Given the description of an element on the screen output the (x, y) to click on. 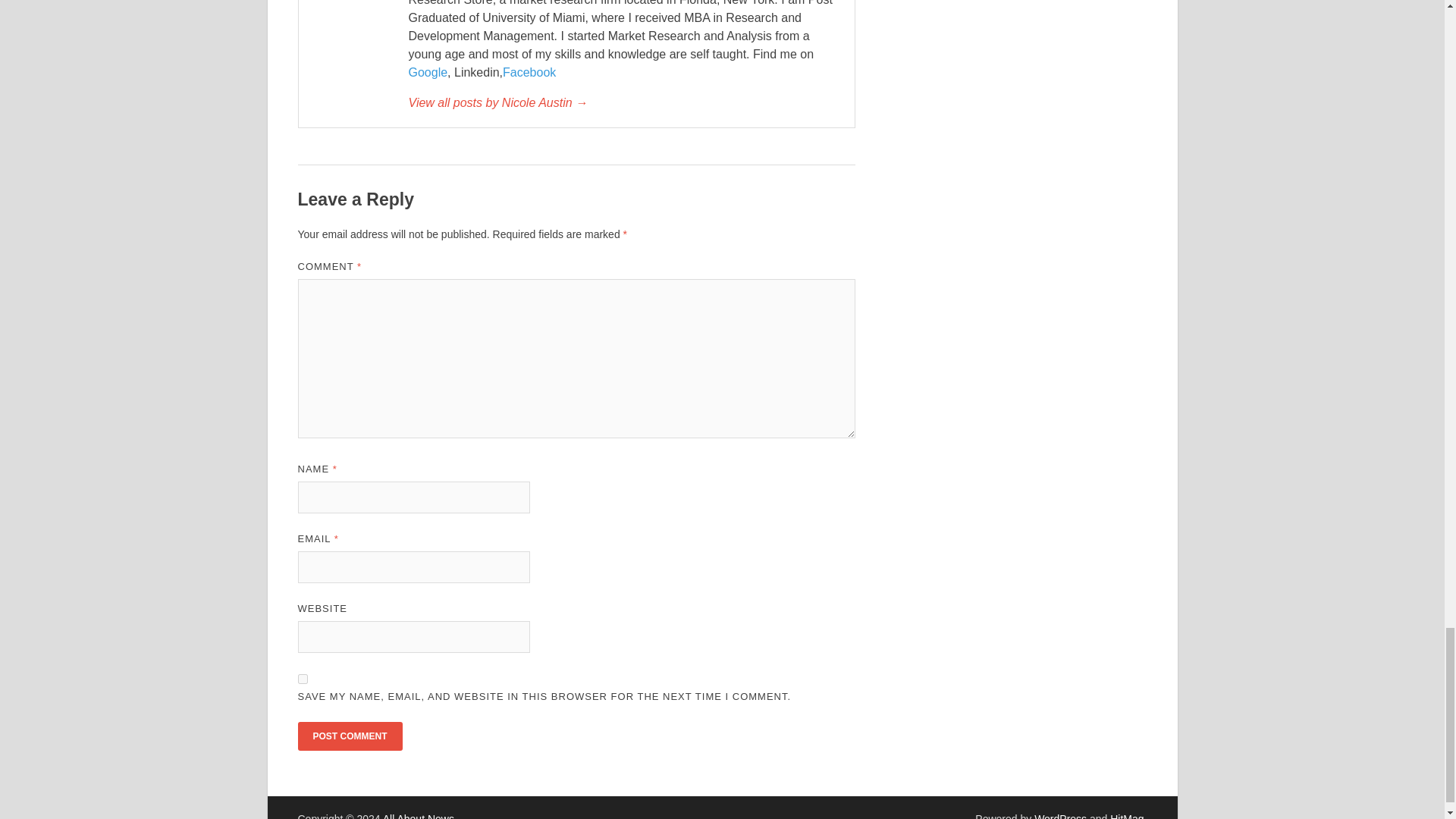
Post Comment (349, 736)
Facebook (529, 72)
Google (426, 72)
yes (302, 678)
Nicole Austin (622, 103)
